Given the description of an element on the screen output the (x, y) to click on. 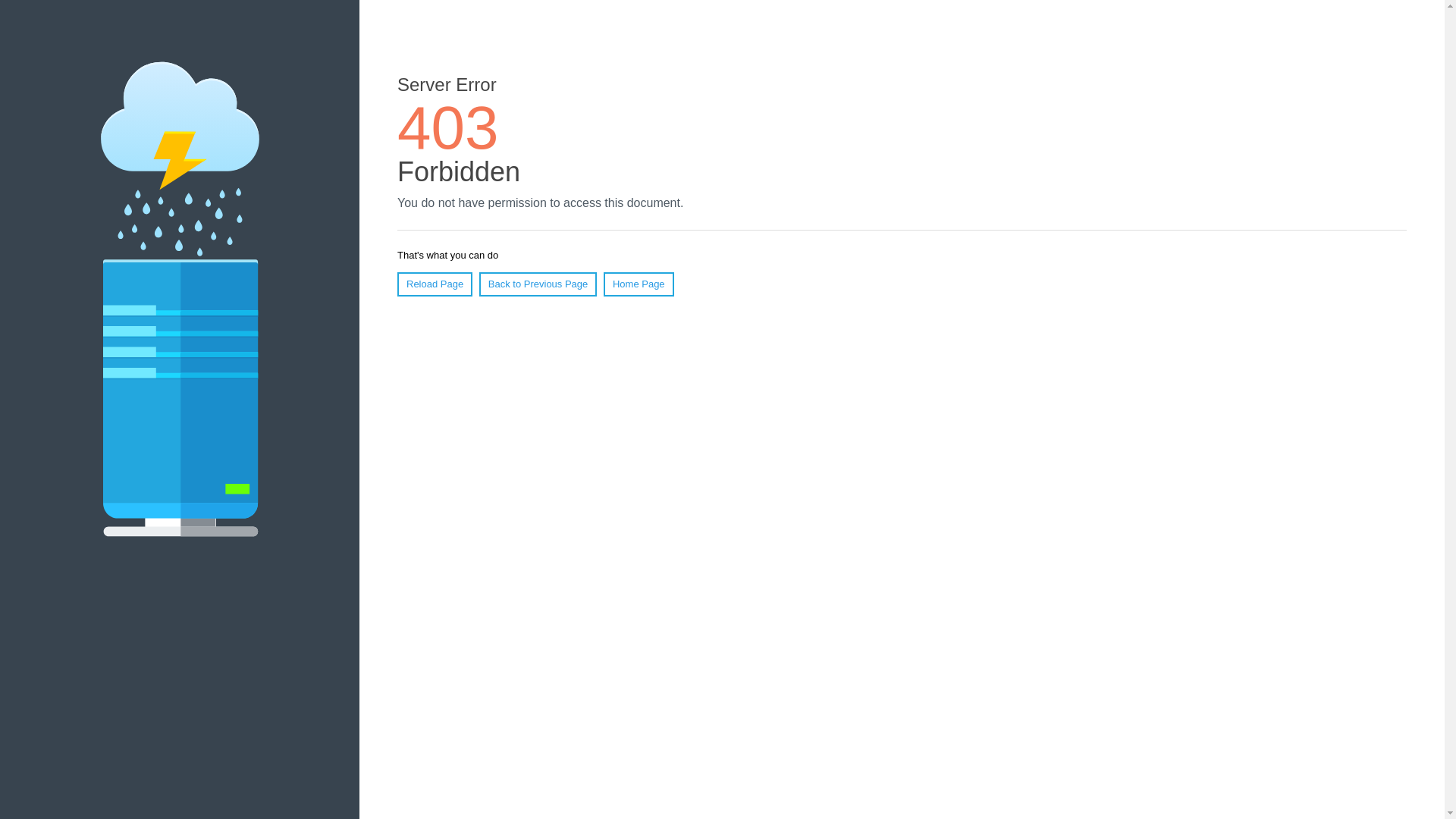
Back to Previous Page Element type: text (538, 284)
Home Page Element type: text (638, 284)
Reload Page Element type: text (434, 284)
